Given the description of an element on the screen output the (x, y) to click on. 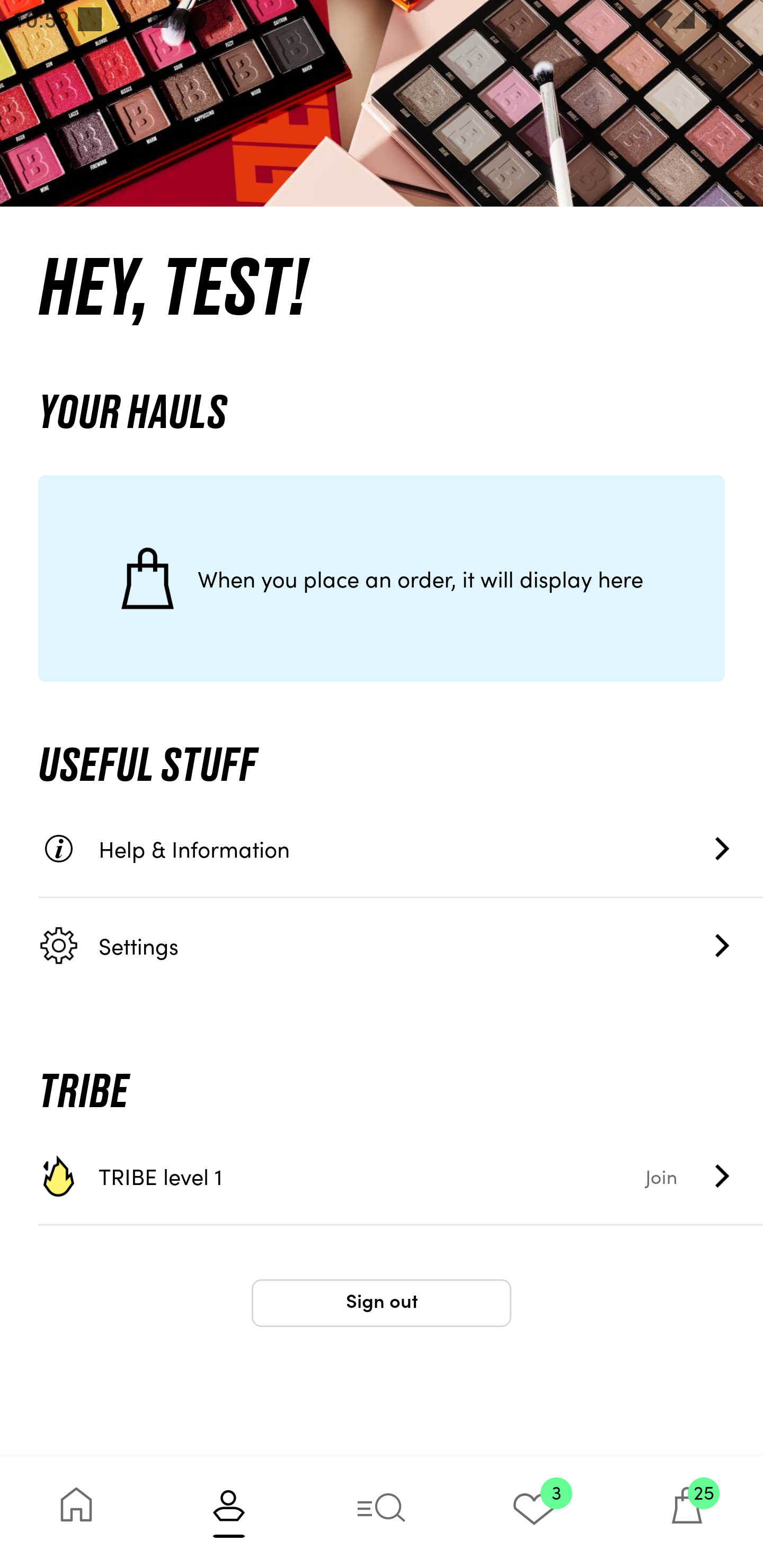
Help & Information (400, 848)
Settings (400, 945)
TRIBE level 1 Join (400, 1175)
Sign out (381, 1302)
3 (533, 1512)
25 (686, 1512)
